Given the description of an element on the screen output the (x, y) to click on. 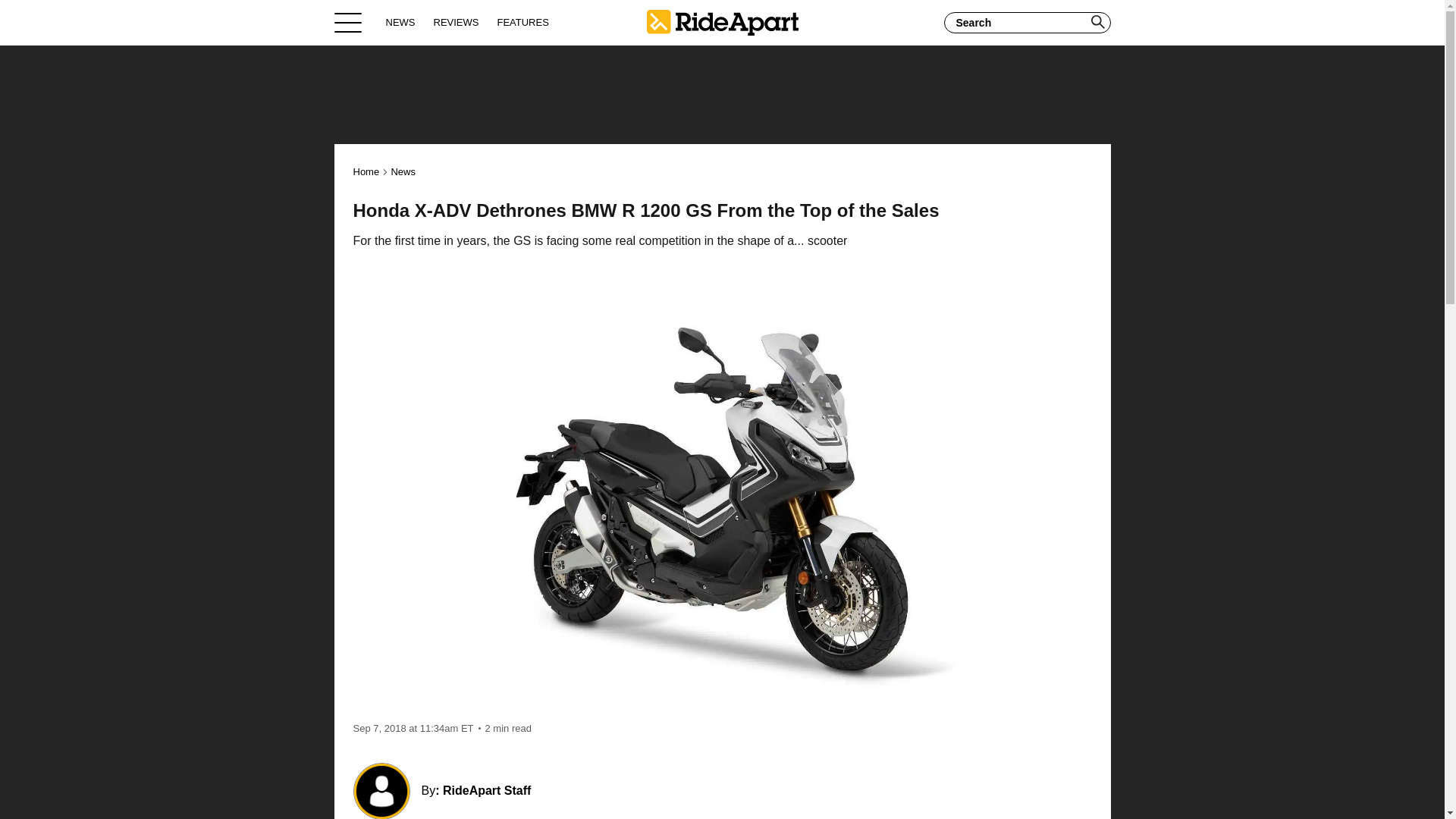
NEWS (399, 22)
Home (721, 22)
Home (366, 171)
FEATURES (522, 22)
News (402, 171)
RideApart Staff (486, 789)
REVIEWS (456, 22)
